Given the description of an element on the screen output the (x, y) to click on. 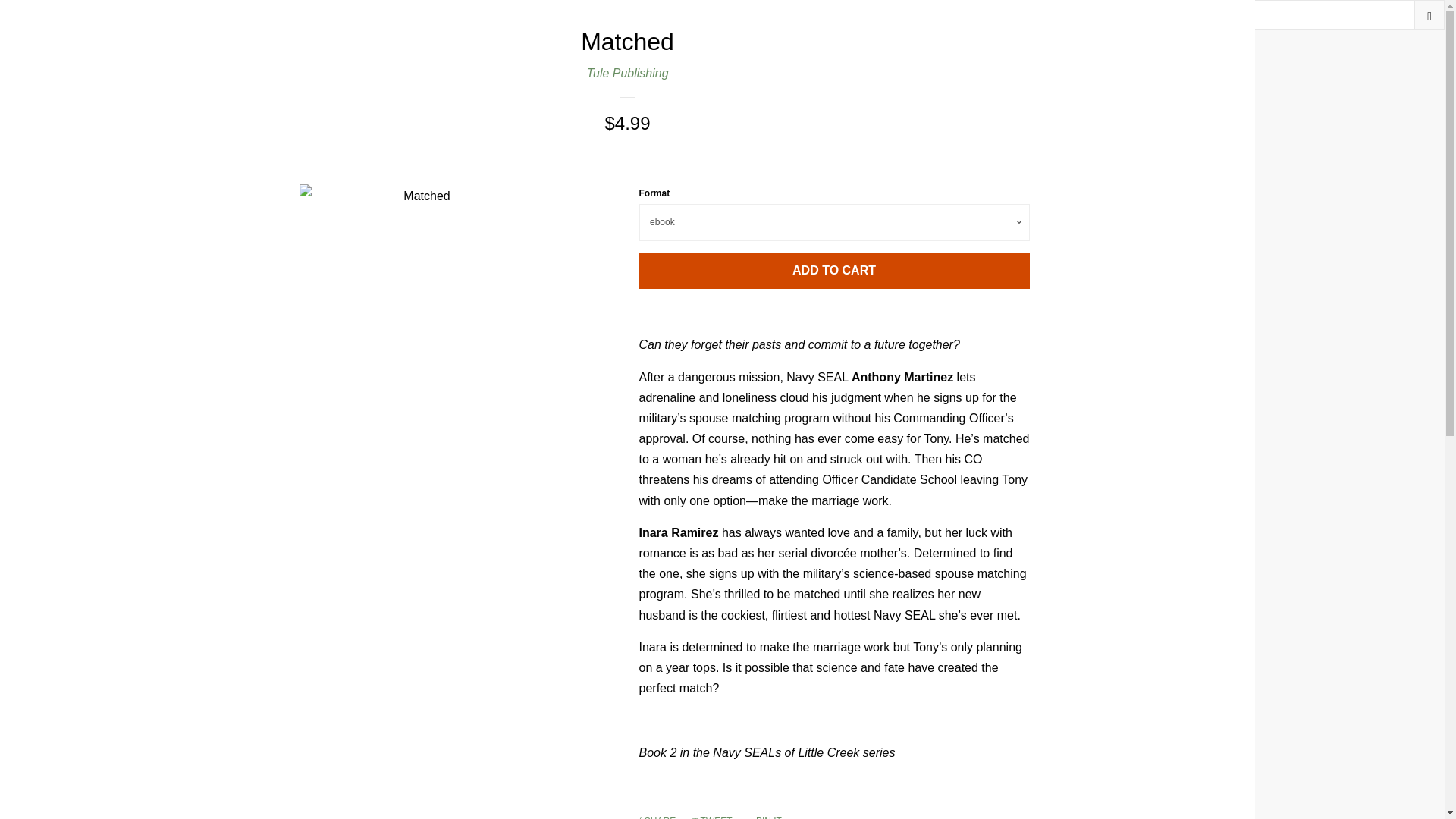
SEARCH (1429, 14)
